Given the description of an element on the screen output the (x, y) to click on. 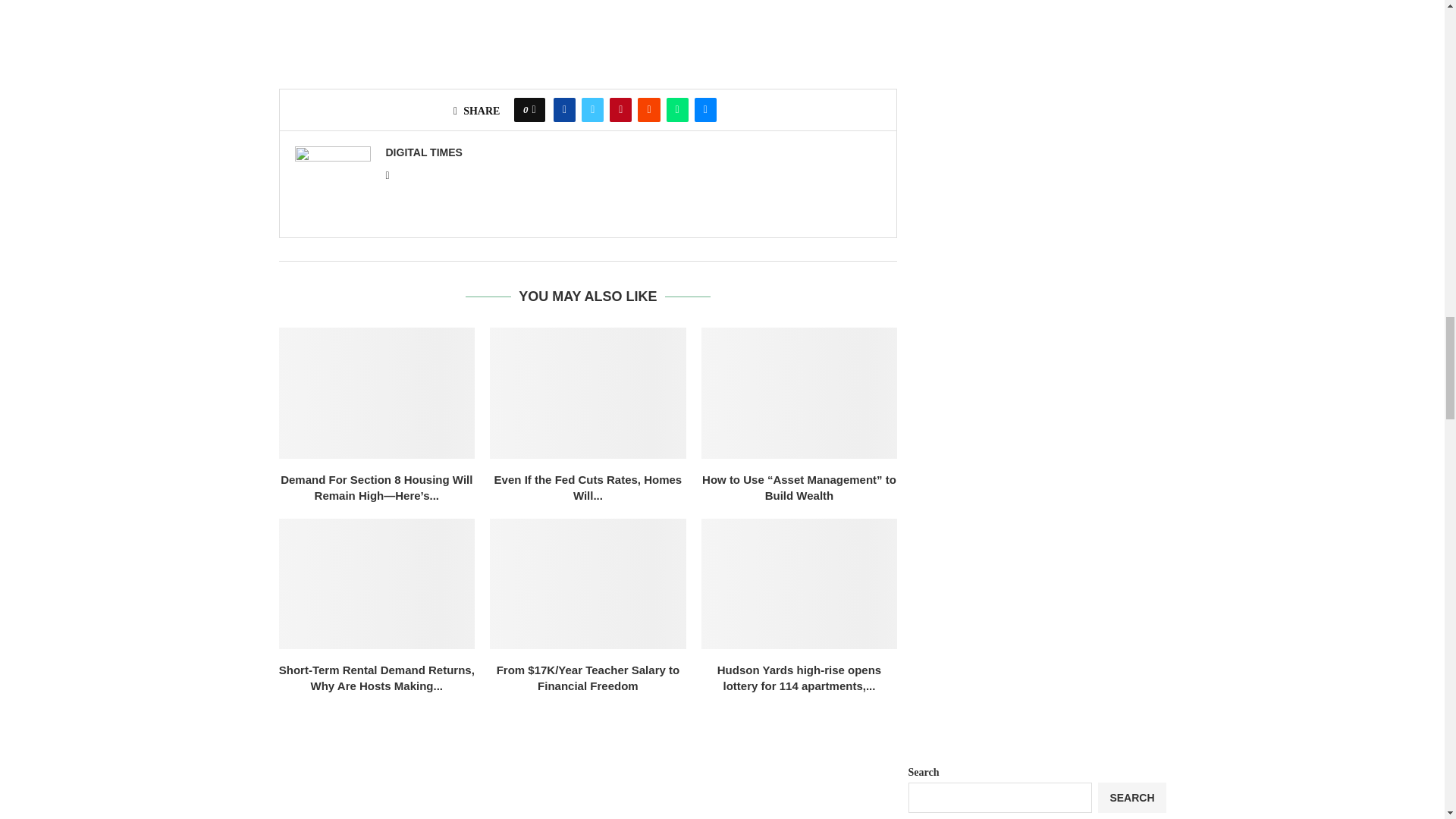
Author DIGITAL TIMES (423, 152)
Short-Term Rental Demand Returns, Why Are Hosts Making Less (377, 583)
